Given the description of an element on the screen output the (x, y) to click on. 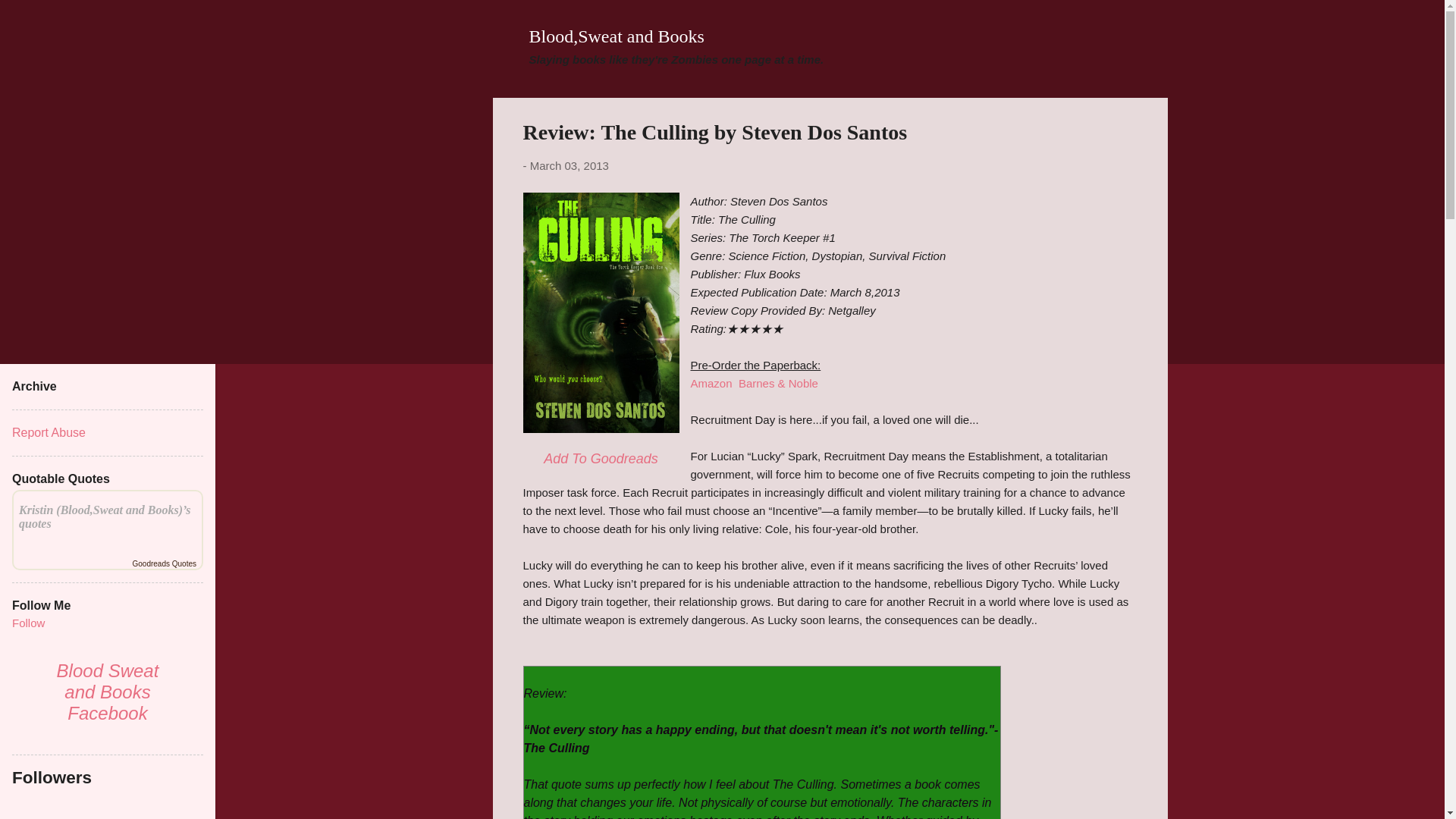
Add To Goodreads (600, 458)
Amazon (711, 382)
Search (29, 18)
Blood,Sweat and Books (616, 35)
permanent link (568, 164)
March 03, 2013 (568, 164)
